Given the description of an element on the screen output the (x, y) to click on. 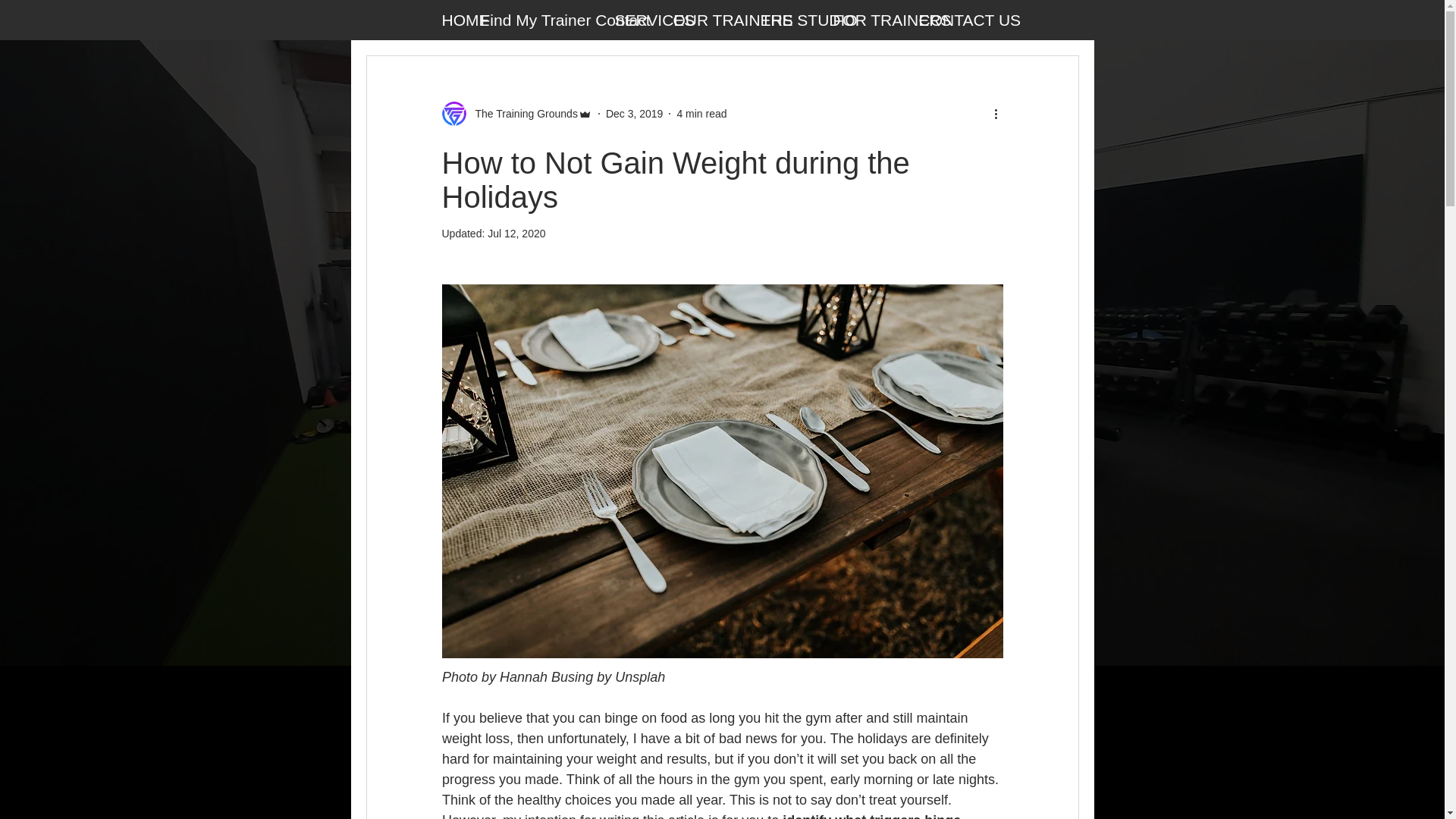
THE STUDIO (796, 20)
4 min read (701, 113)
The Training Grounds (516, 113)
SERVICES (643, 20)
Find My Trainer Contact (547, 20)
OUR TRAINERS (716, 20)
The Training Grounds (520, 114)
Jul 12, 2020 (515, 233)
FOR TRAINERS (875, 20)
CONTACT US (956, 20)
Dec 3, 2019 (634, 113)
HOME (460, 20)
